Given the description of an element on the screen output the (x, y) to click on. 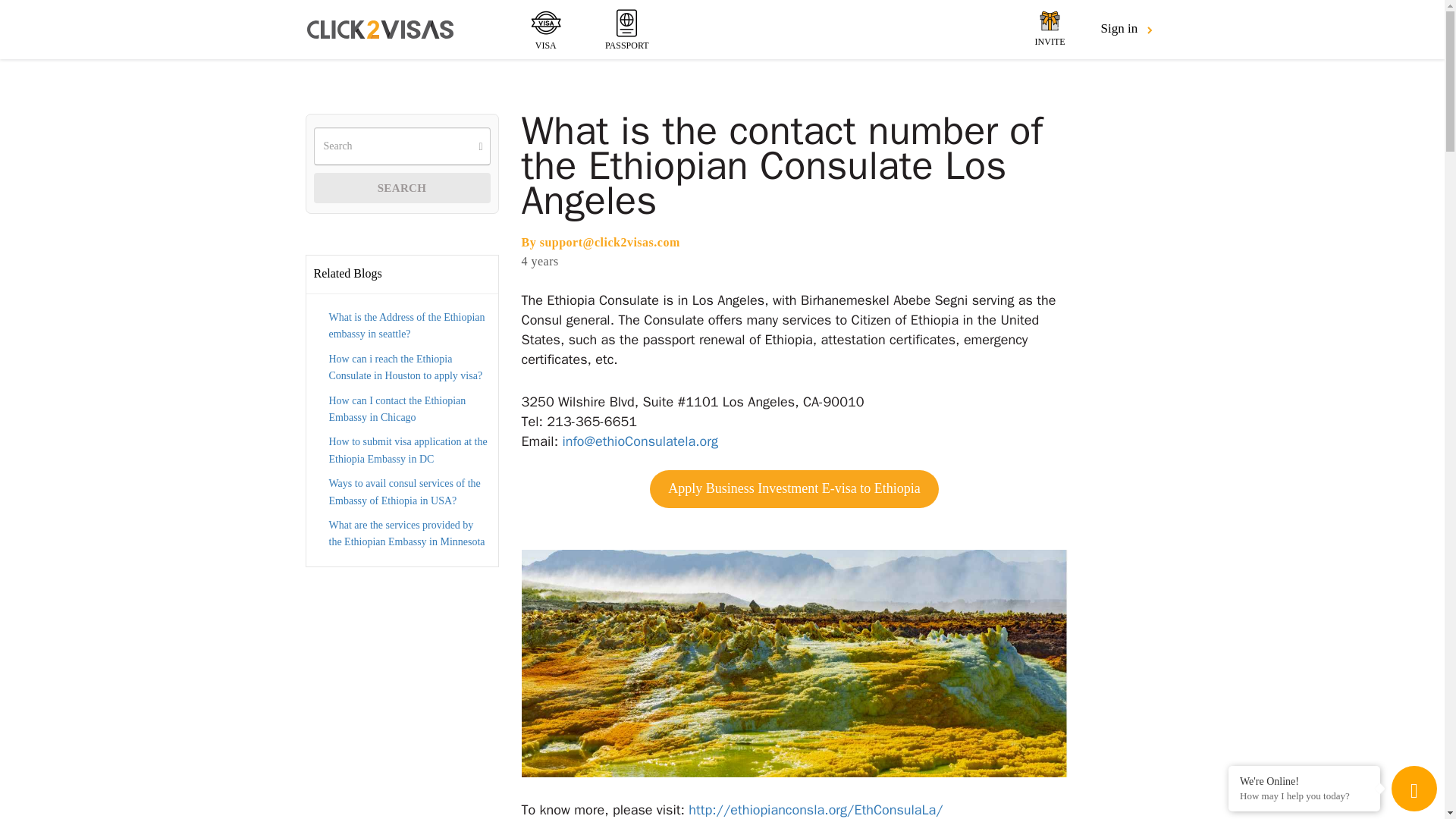
Apply Business Investment E-visa to Ethiopia (793, 488)
How may I help you today? (1304, 796)
What is the Address of the Ethiopian embassy in seattle? (406, 325)
SEARCH (402, 187)
INVITE (1050, 29)
VISA (545, 29)
How to submit visa application at the Ethiopia Embassy in DC (408, 449)
PASSPORT (626, 29)
How can I contact the Ethiopian Embassy in Chicago (397, 408)
